Given the description of an element on the screen output the (x, y) to click on. 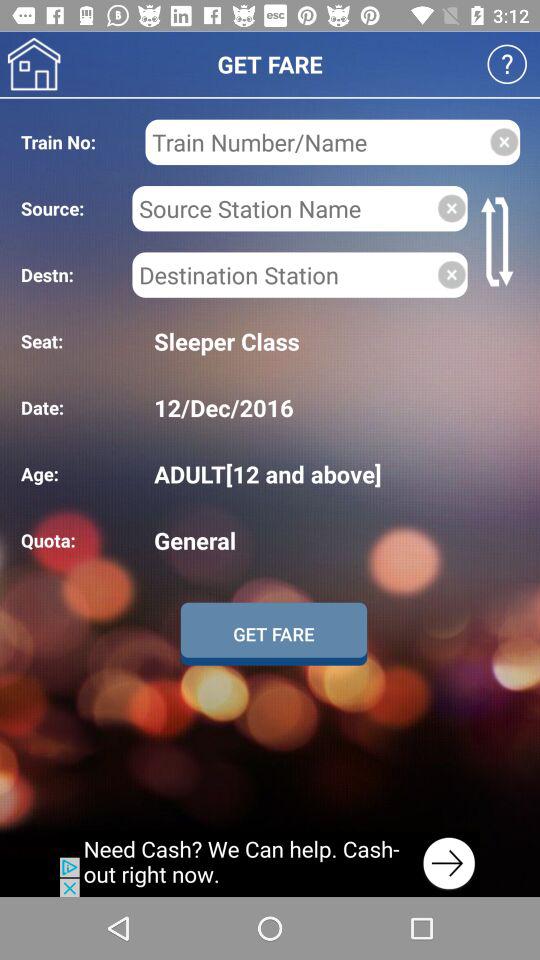
home (33, 63)
